Given the description of an element on the screen output the (x, y) to click on. 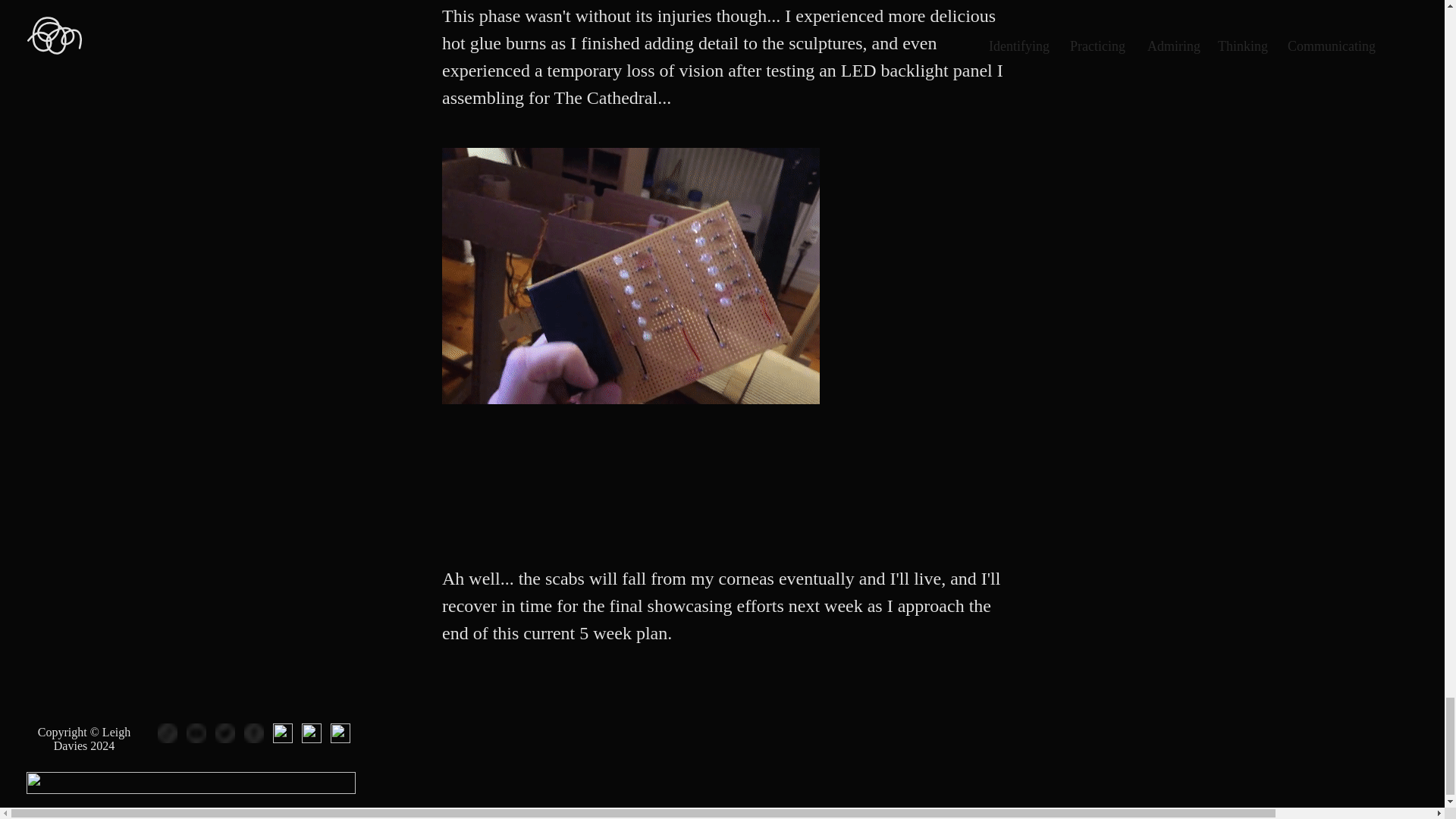
Facebook (253, 732)
Music on Spotify (311, 732)
TikTok (167, 732)
Instagram (282, 732)
Twitter (224, 732)
Lottery funding strip landscape white.jpg (190, 782)
Subscribe on Youtube (196, 732)
Music on Bandcamp (340, 732)
